Given the description of an element on the screen output the (x, y) to click on. 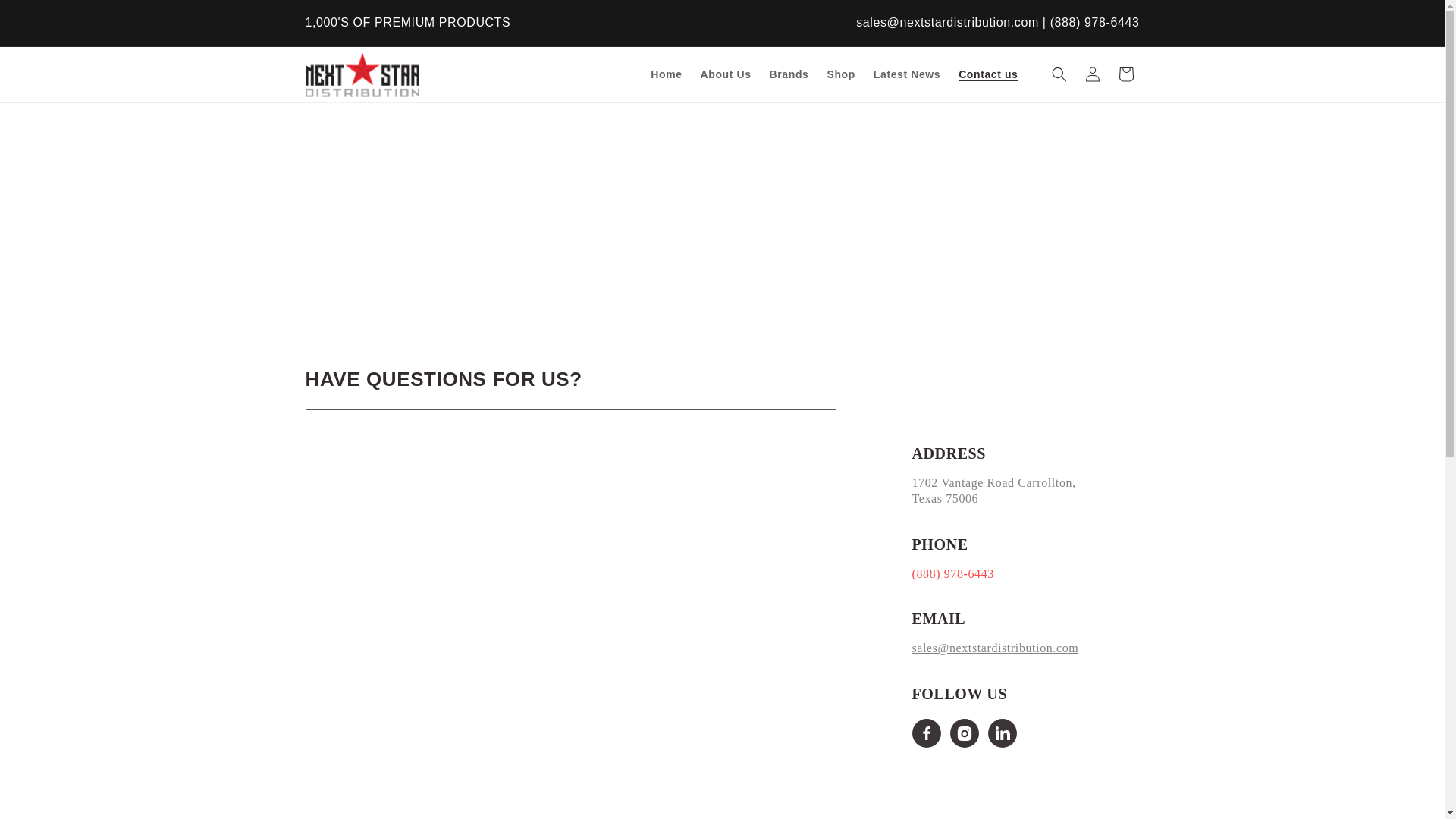
About Us (725, 74)
Skip to content (45, 17)
CONTACT US (600, 210)
Contact us (987, 74)
Brands (789, 74)
Shop (839, 74)
Home (666, 74)
Cart (1124, 73)
Latest News (906, 74)
Log in (1091, 73)
